Given the description of an element on the screen output the (x, y) to click on. 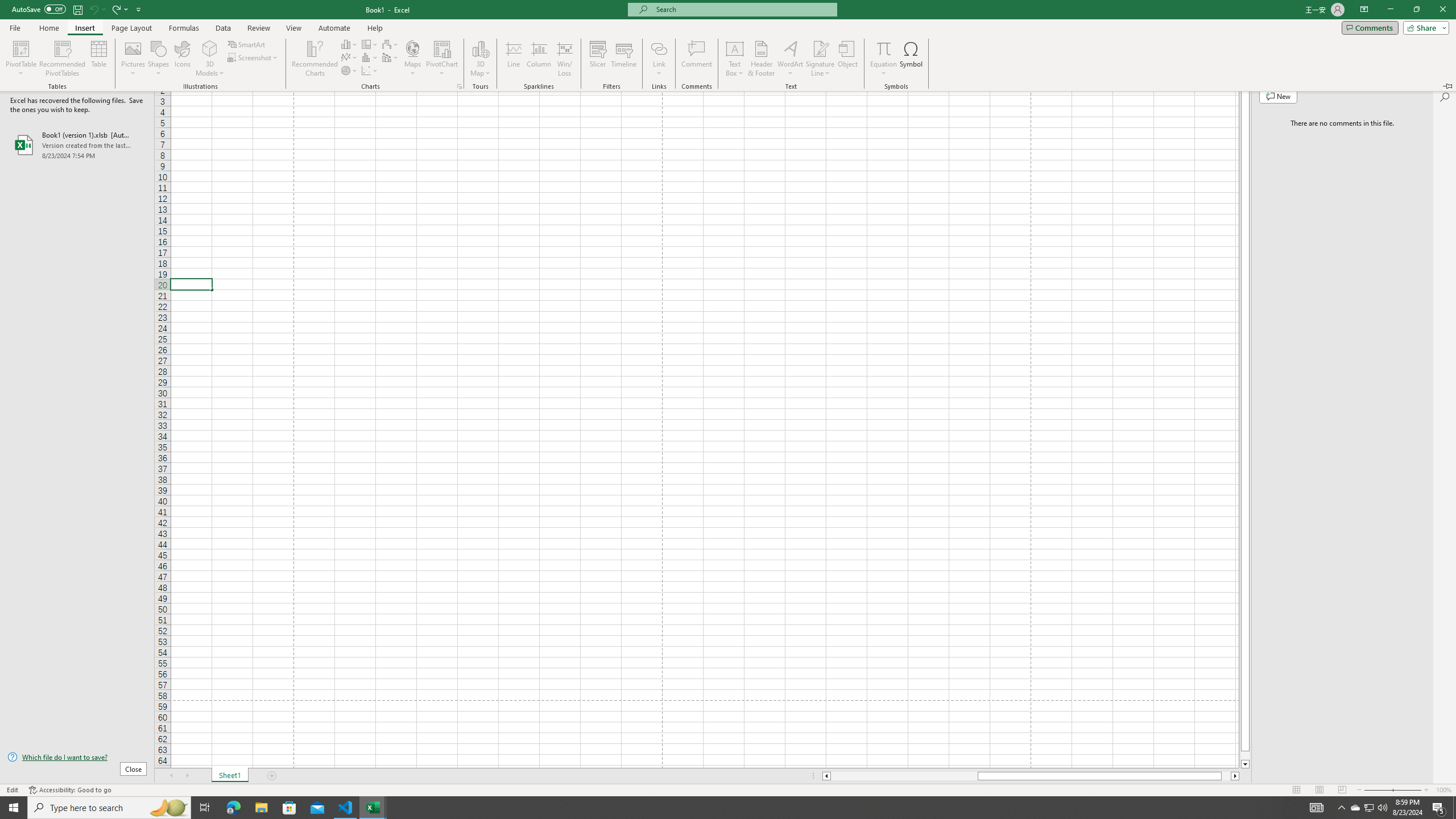
Excel - 2 running windows (373, 807)
Class: MsoCommandBar (728, 789)
Page left (903, 775)
Microsoft Store (289, 807)
